Given the description of an element on the screen output the (x, y) to click on. 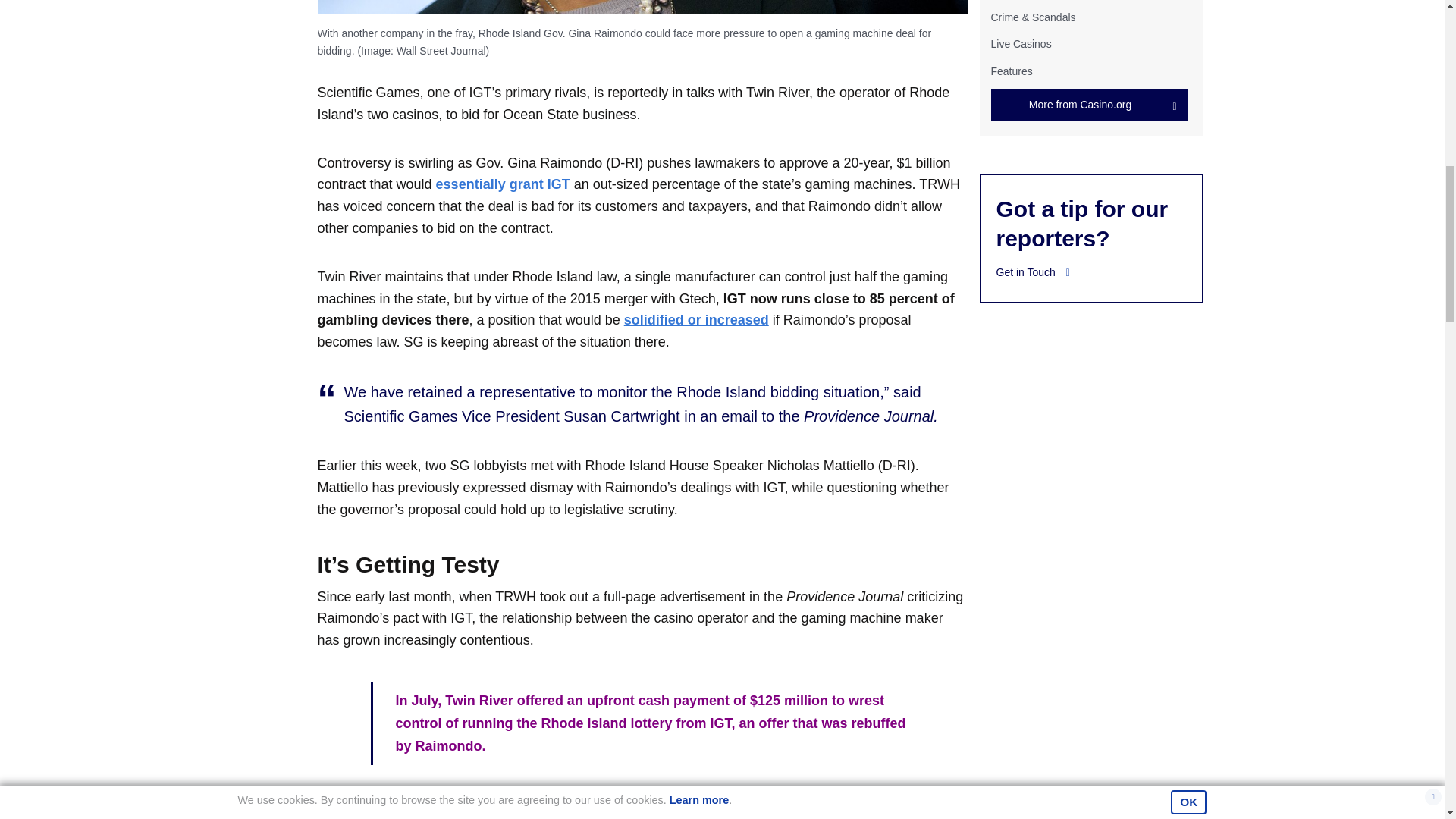
solidified or increased (696, 319)
essentially grant IGT (502, 183)
Live Casinos (1020, 43)
Features (1011, 70)
ran a radio spot (502, 806)
